Given the description of an element on the screen output the (x, y) to click on. 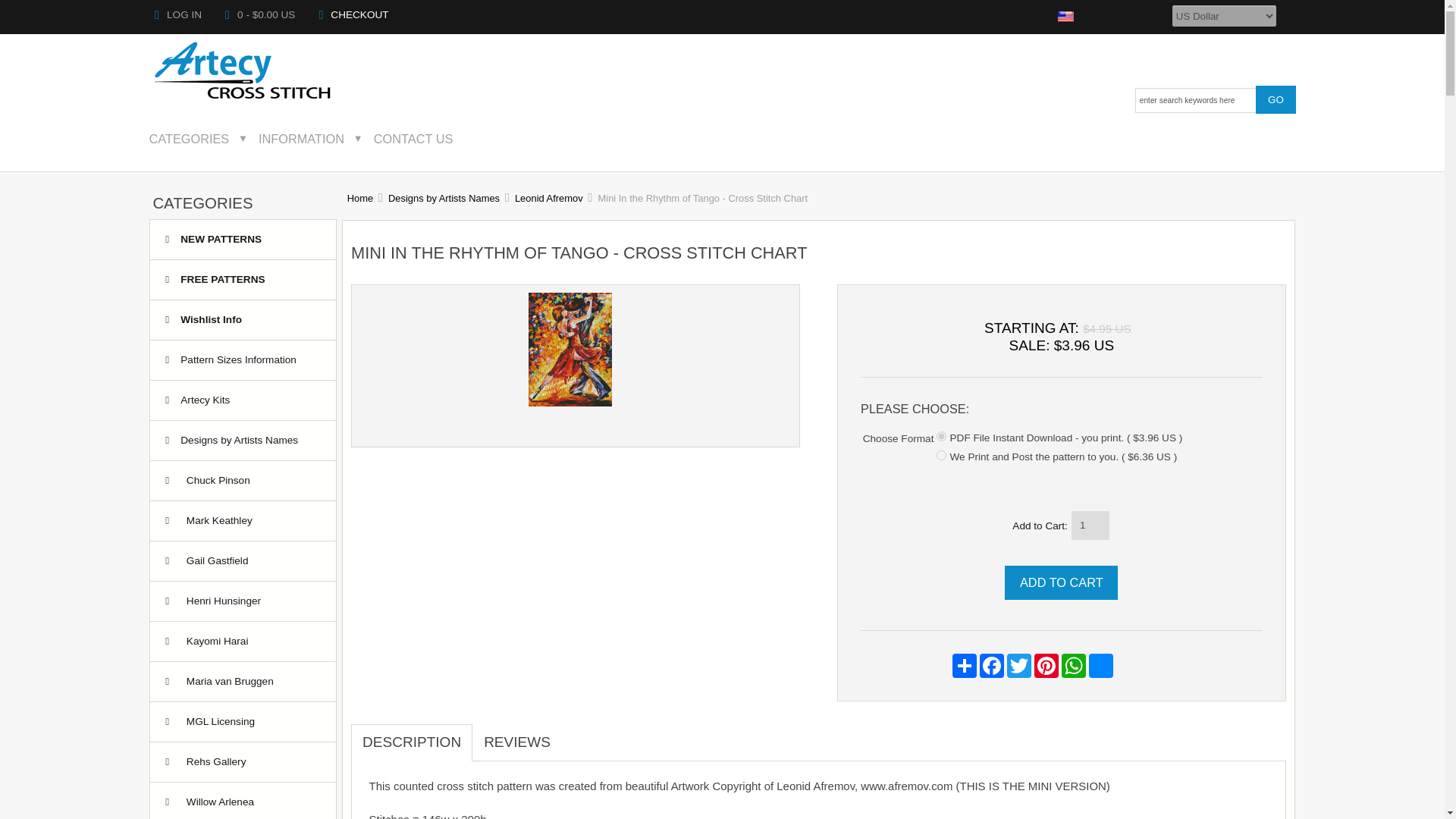
2 (941, 455)
English (1066, 16)
CHECKOUT (353, 14)
go (1275, 99)
go (1275, 99)
CATEGORIES (199, 138)
Add to Cart (1061, 582)
1 (941, 436)
LOG IN (177, 14)
Mini In the Rhythm of Tango - Cross Stitch Chart (569, 402)
Enter search keywords here (1195, 100)
1 (1090, 525)
go (1275, 99)
Artecy Cross Stitch (243, 71)
Enter search keywords here (1195, 100)
